Given the description of an element on the screen output the (x, y) to click on. 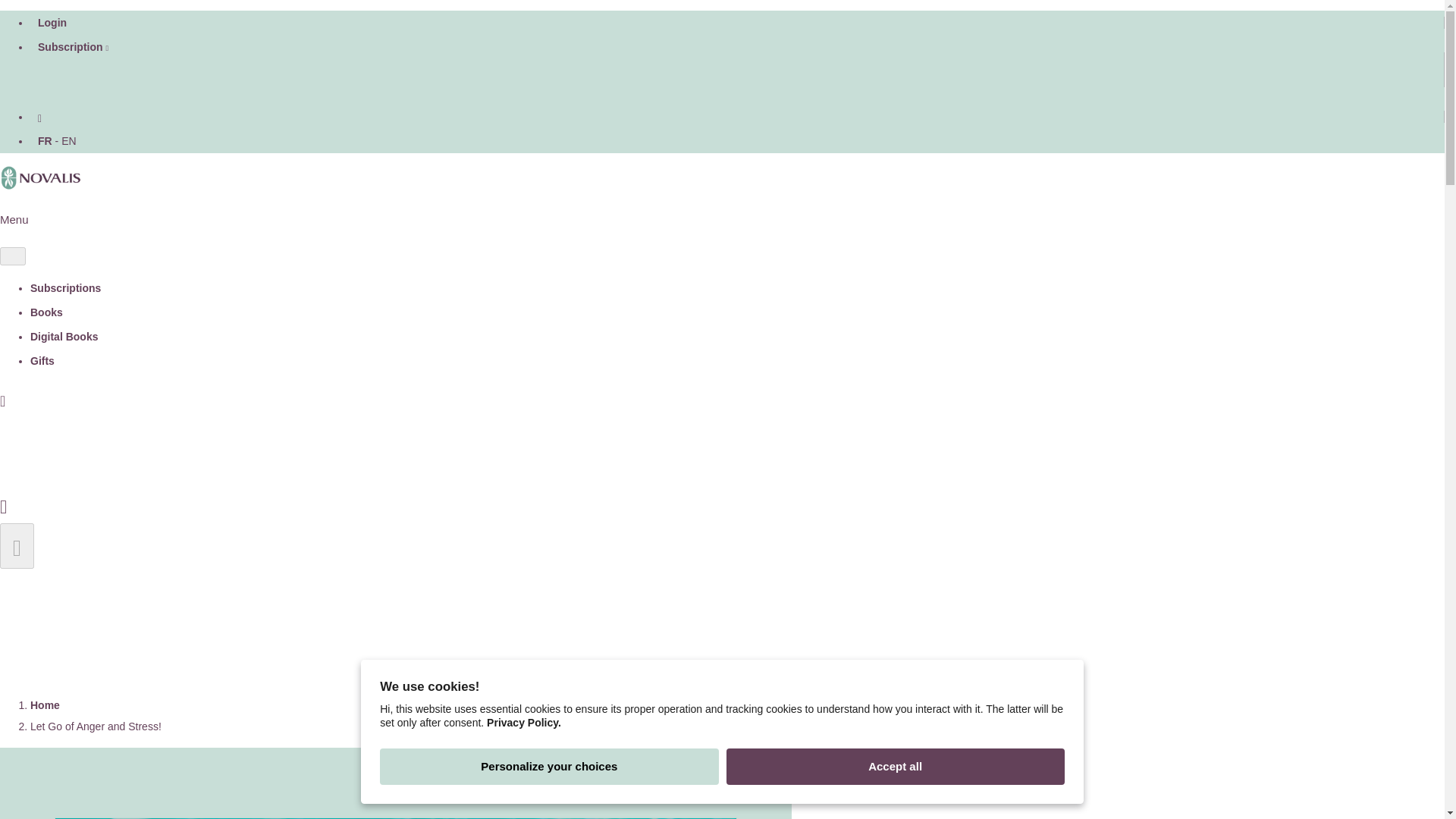
Digital Books (63, 336)
FR (44, 140)
Login (51, 22)
Gifts (42, 360)
Accept all (895, 768)
Subscriptions (65, 288)
Privacy Policy. (523, 728)
Home (44, 705)
Books (46, 312)
Home (44, 705)
Cart (3, 504)
Personalize your choices (548, 770)
Subscription (72, 46)
